Given the description of an element on the screen output the (x, y) to click on. 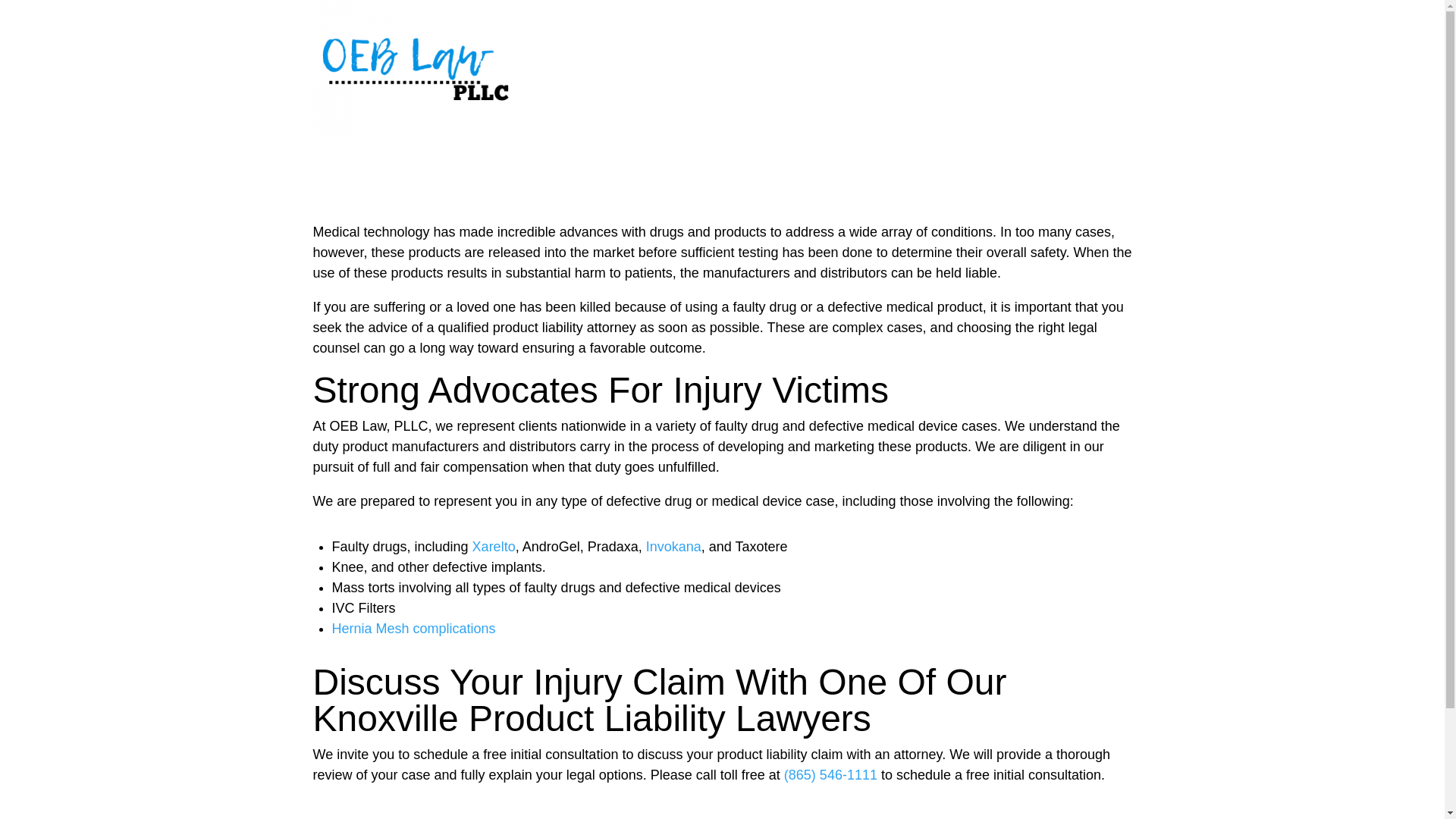
Invokana (673, 549)
Xarelto (493, 549)
Still Have Questions? Contact Us Here (460, 813)
Hernia Mesh complications (413, 631)
